Given the description of an element on the screen output the (x, y) to click on. 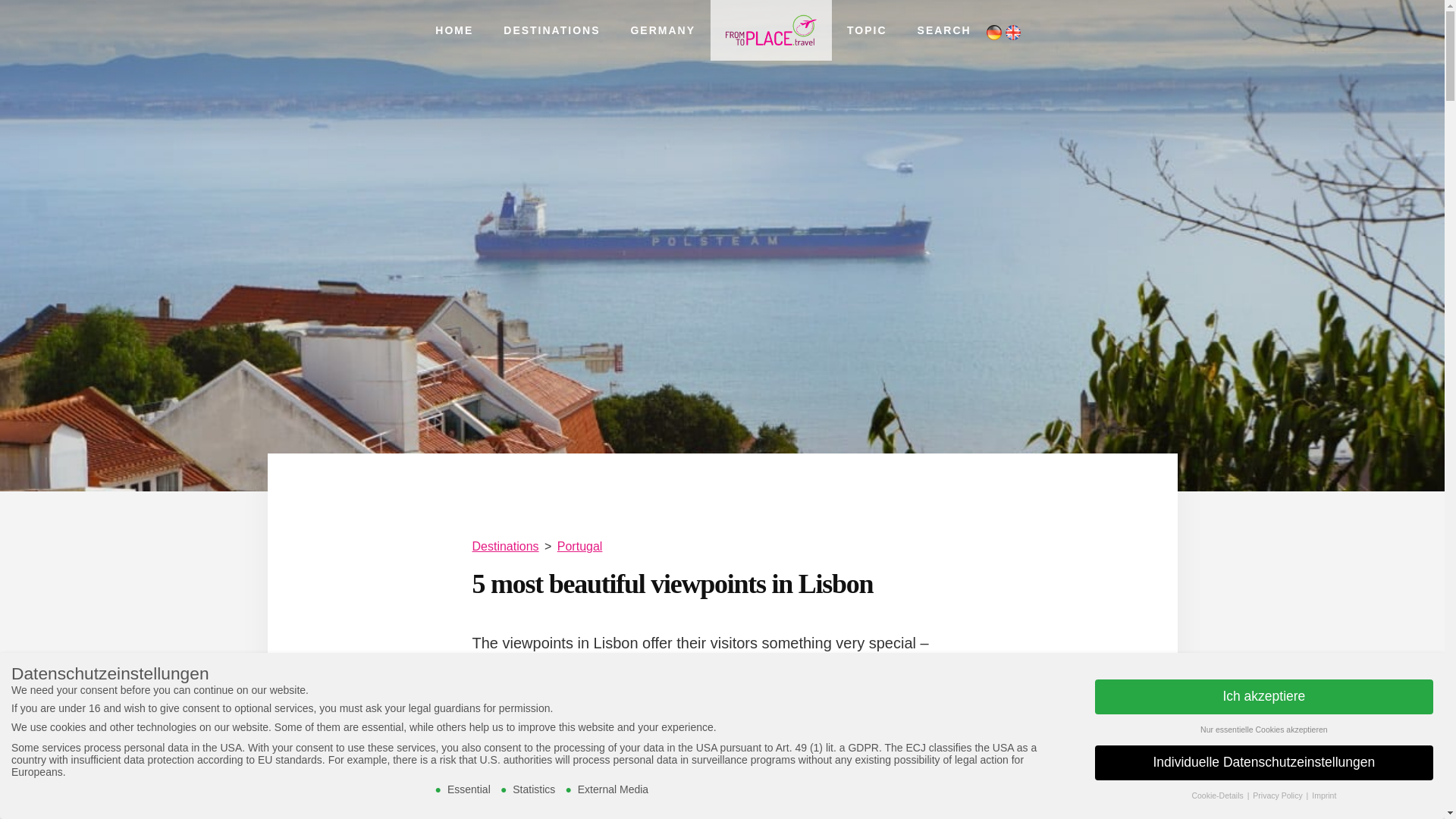
HOME (453, 30)
Portugal (579, 545)
DESTINATIONS (550, 30)
GERMANY (662, 30)
Destinations (504, 545)
TOPIC (866, 30)
SEARCH (944, 30)
